Given the description of an element on the screen output the (x, y) to click on. 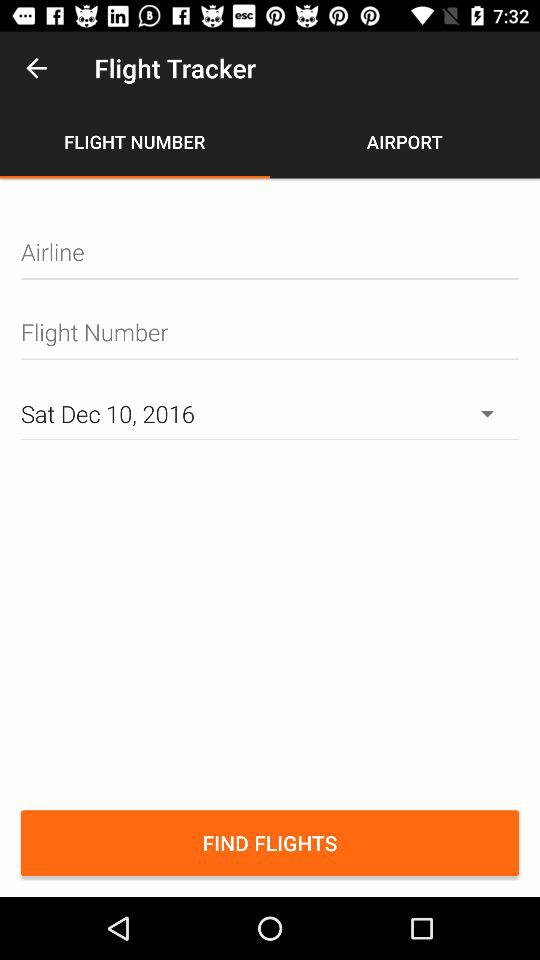
press item next to the flight tracker (36, 68)
